Given the description of an element on the screen output the (x, y) to click on. 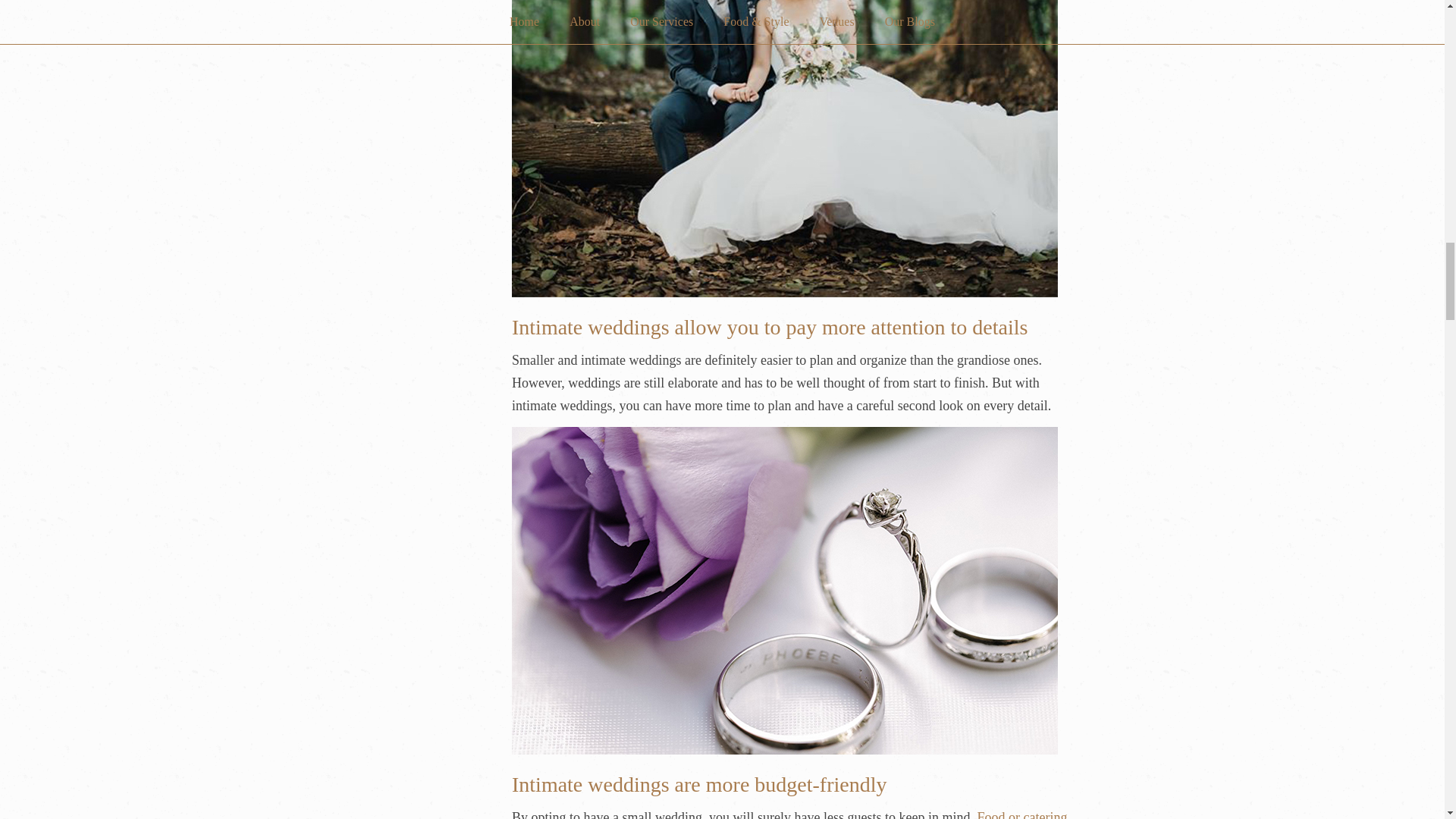
Intimate weddings allow you to pay more attention to details (769, 327)
Food or catering service (789, 814)
Intimate weddings are more budget-friendly (699, 784)
